Given the description of an element on the screen output the (x, y) to click on. 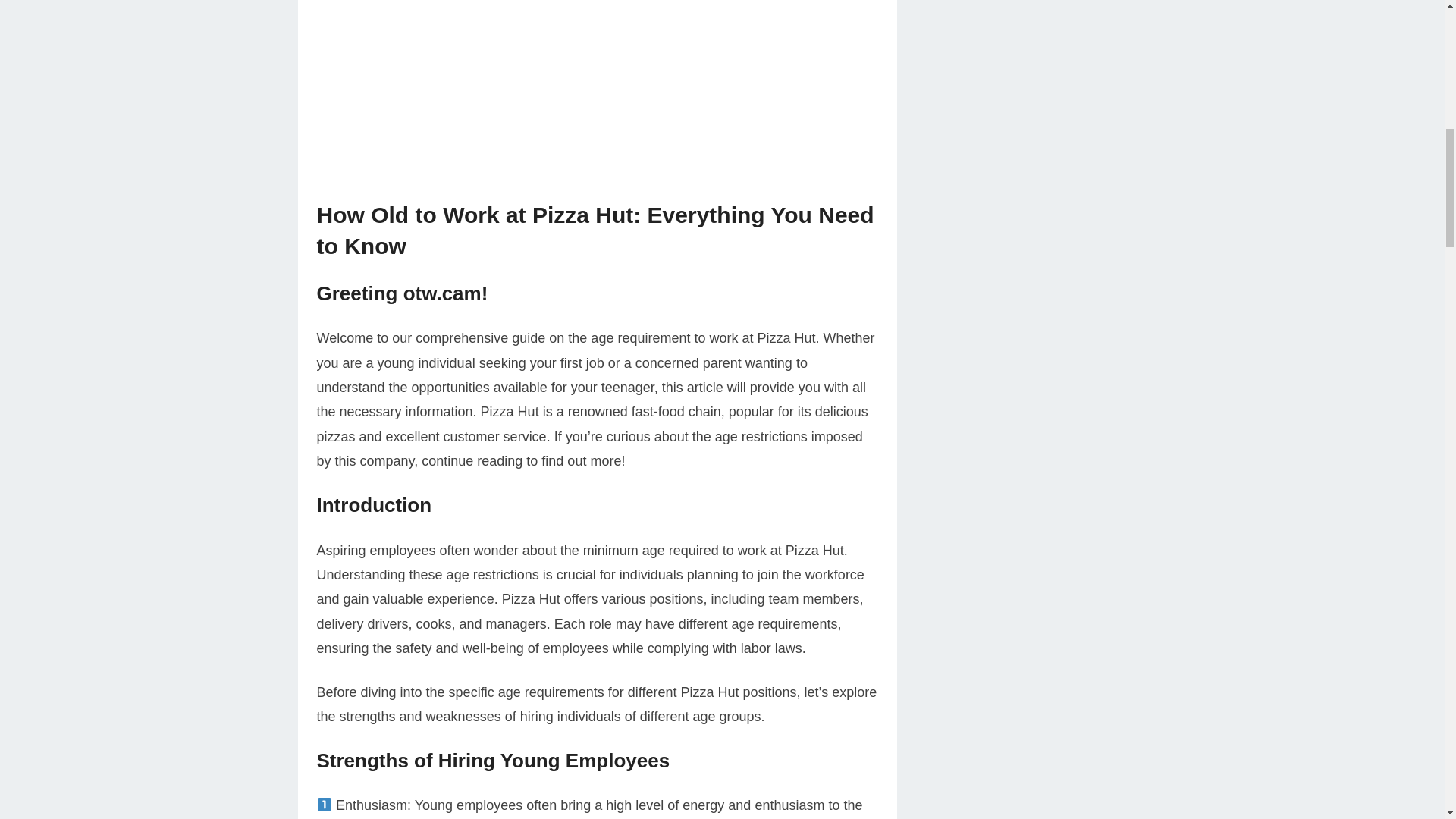
Advertisement (597, 99)
